Given the description of an element on the screen output the (x, y) to click on. 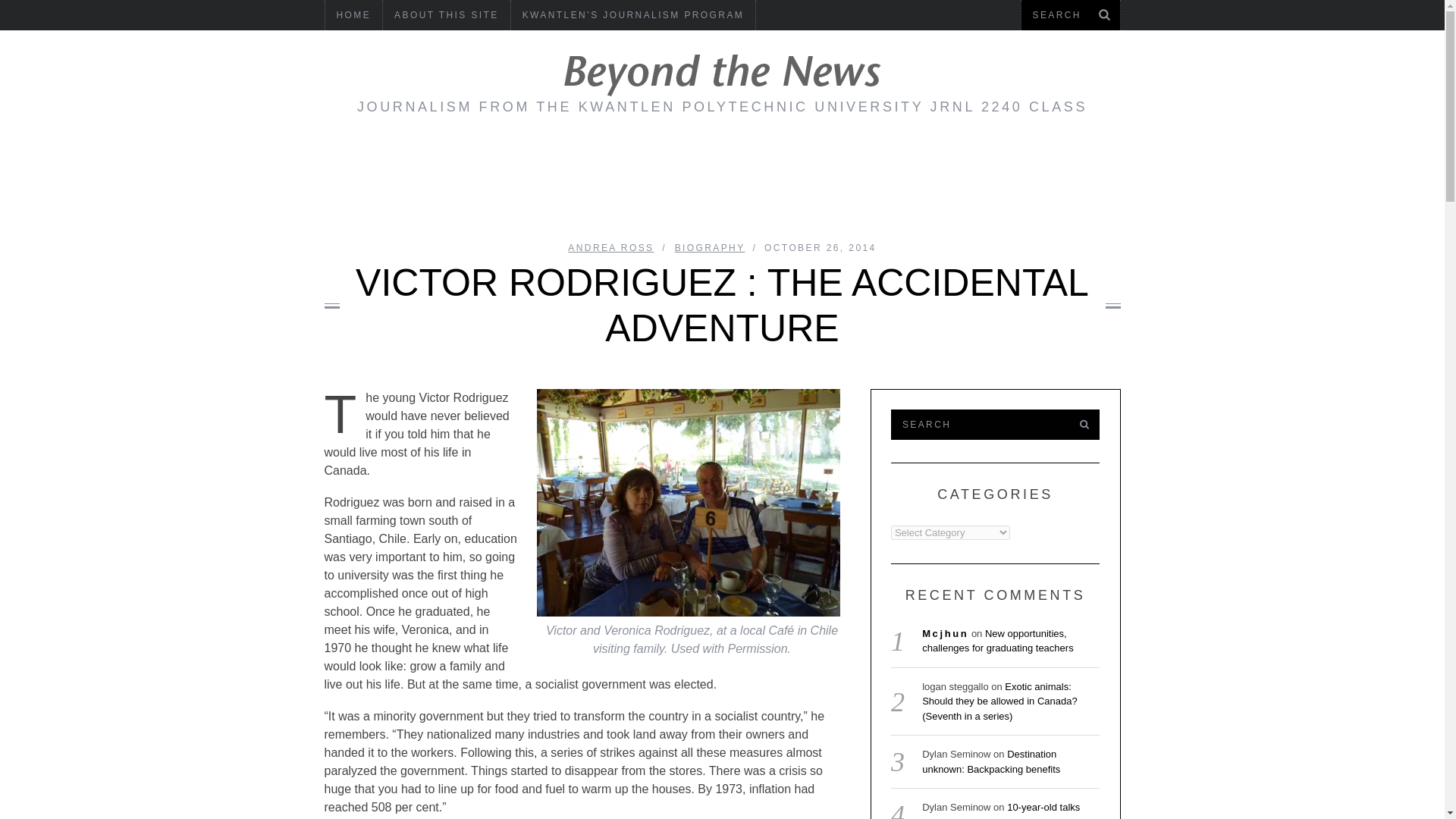
Search (976, 424)
HOME (352, 14)
ABOUT THIS SITE (446, 14)
Search (1070, 15)
Posts by Andrea Ross (610, 247)
